Given the description of an element on the screen output the (x, y) to click on. 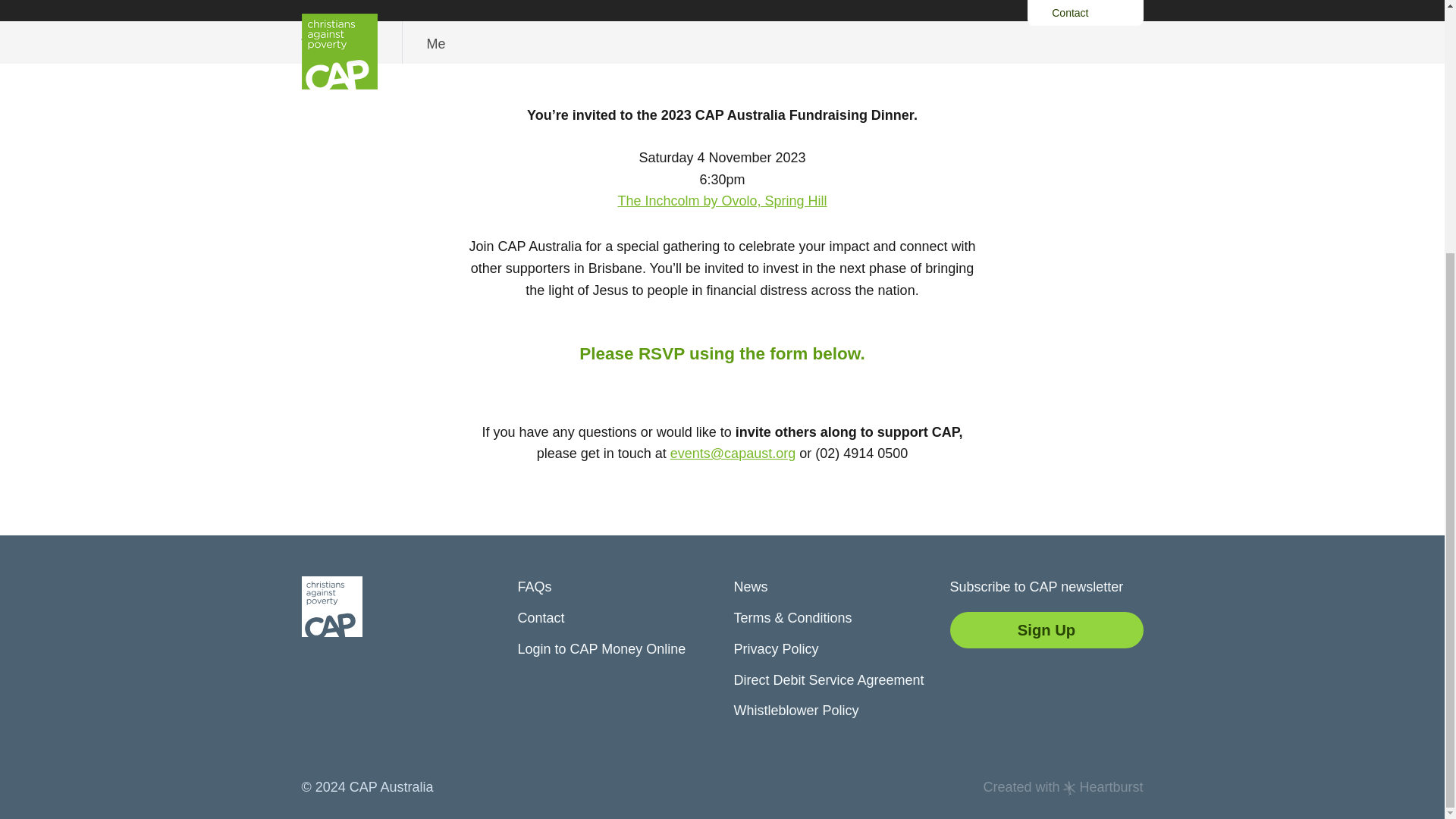
Direct Debit Service Agreement (828, 679)
Me (436, 44)
Sign Up (1045, 629)
FAQs (533, 586)
Contact (721, 42)
The Inchcolm by Ovolo, Spring Hill (540, 617)
Created with Heartburst (722, 200)
Privacy Policy (1062, 786)
Whistleblower Policy (775, 648)
News (796, 710)
Login to CAP Money Online (750, 586)
Take Action (600, 648)
